Given the description of an element on the screen output the (x, y) to click on. 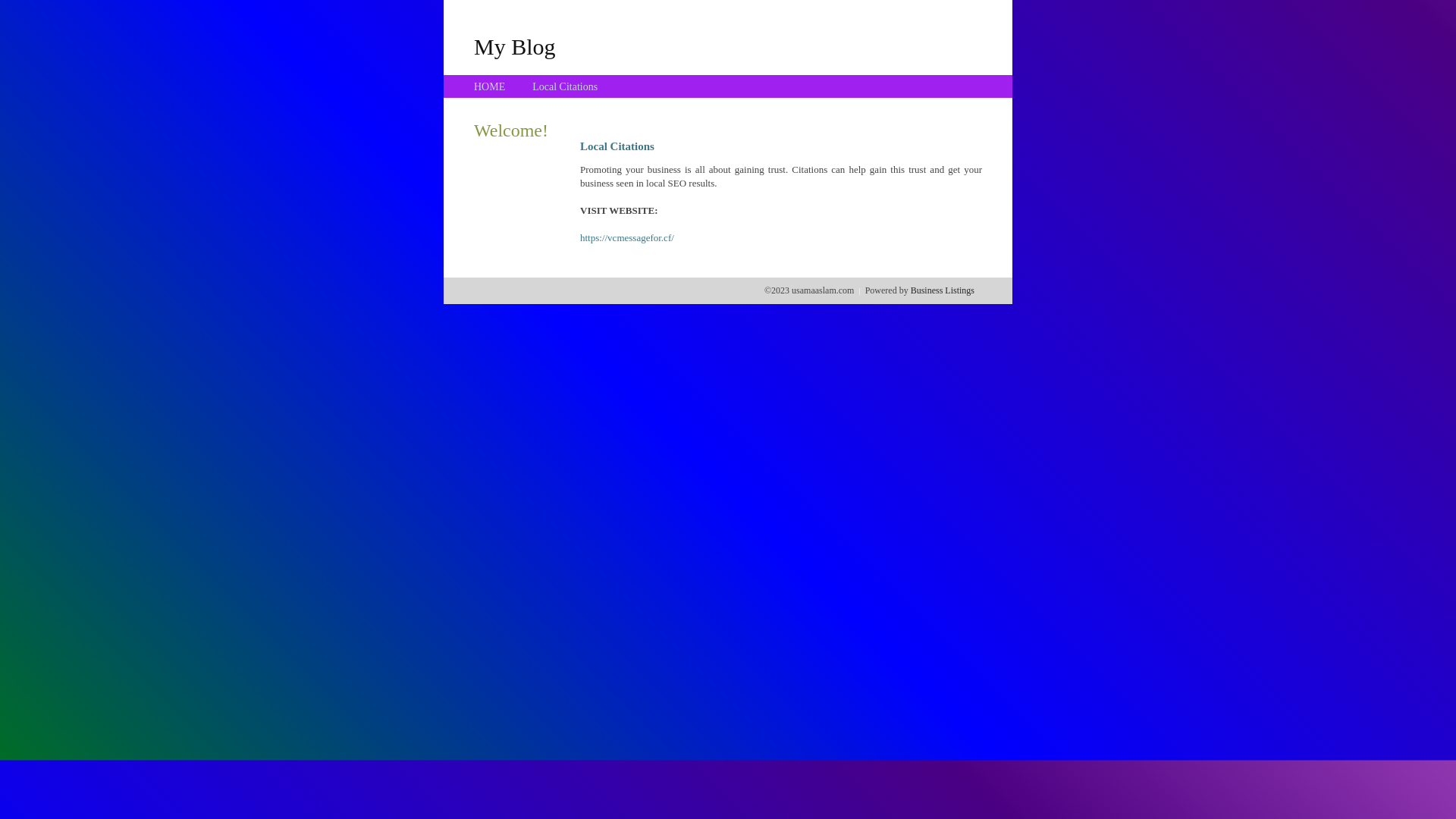
https://vcmessagefor.cf/ Element type: text (627, 237)
My Blog Element type: text (514, 46)
Local Citations Element type: text (564, 86)
HOME Element type: text (489, 86)
Business Listings Element type: text (942, 290)
